Given the description of an element on the screen output the (x, y) to click on. 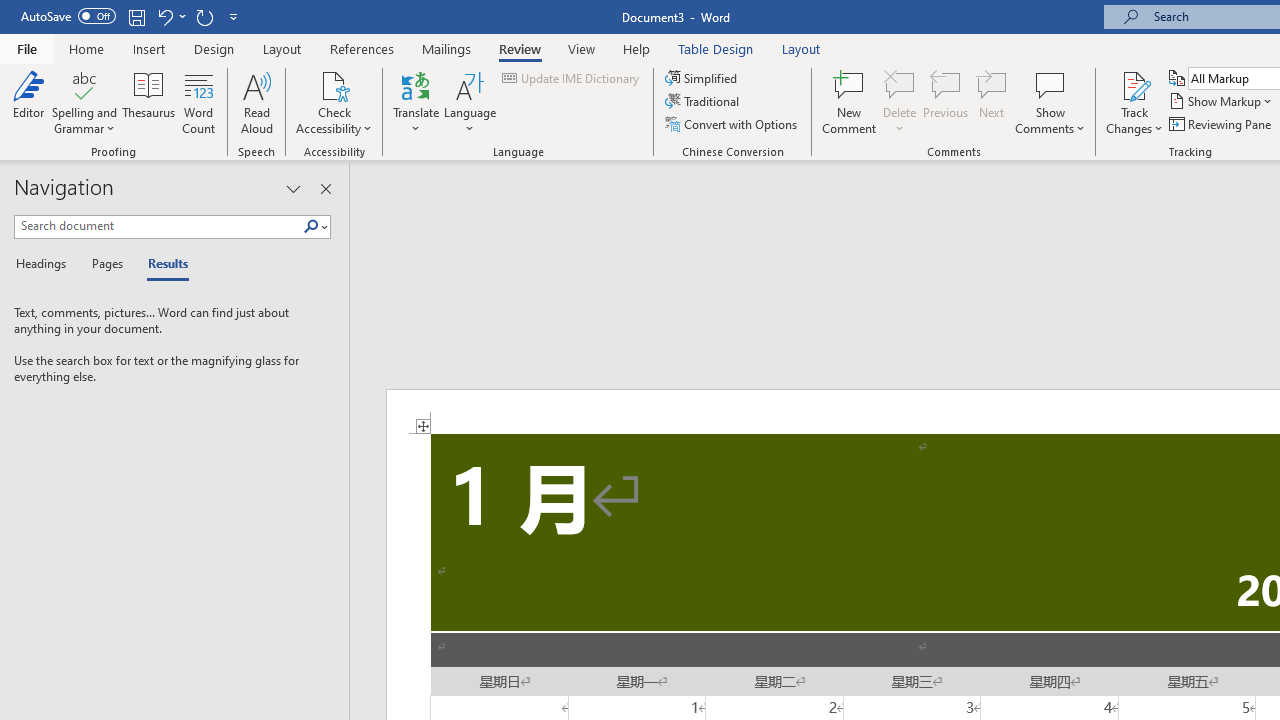
Language (470, 102)
Show Comments (1050, 84)
Update IME Dictionary... (572, 78)
Previous (946, 102)
Reviewing Pane (1221, 124)
Show Comments (1050, 102)
